Given the description of an element on the screen output the (x, y) to click on. 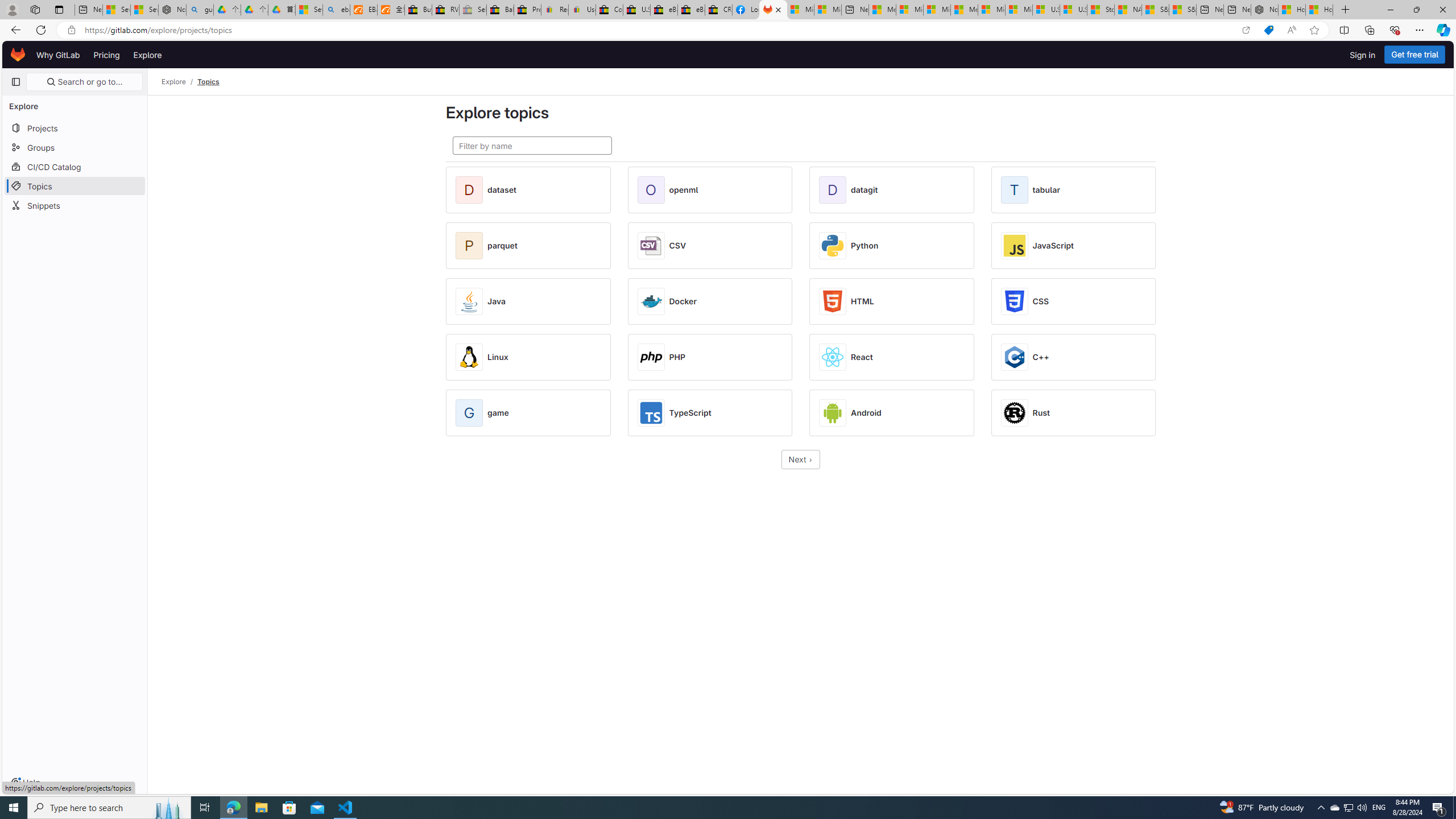
C++ (1040, 356)
Topics (208, 81)
S&P 500, Nasdaq end lower, weighed by Nvidia dip | Watch (1182, 9)
Microsoft account | Home (936, 9)
CSV (676, 245)
Topics (208, 81)
Baby Keepsakes & Announcements for sale | eBay (499, 9)
Java (496, 301)
